Given the description of an element on the screen output the (x, y) to click on. 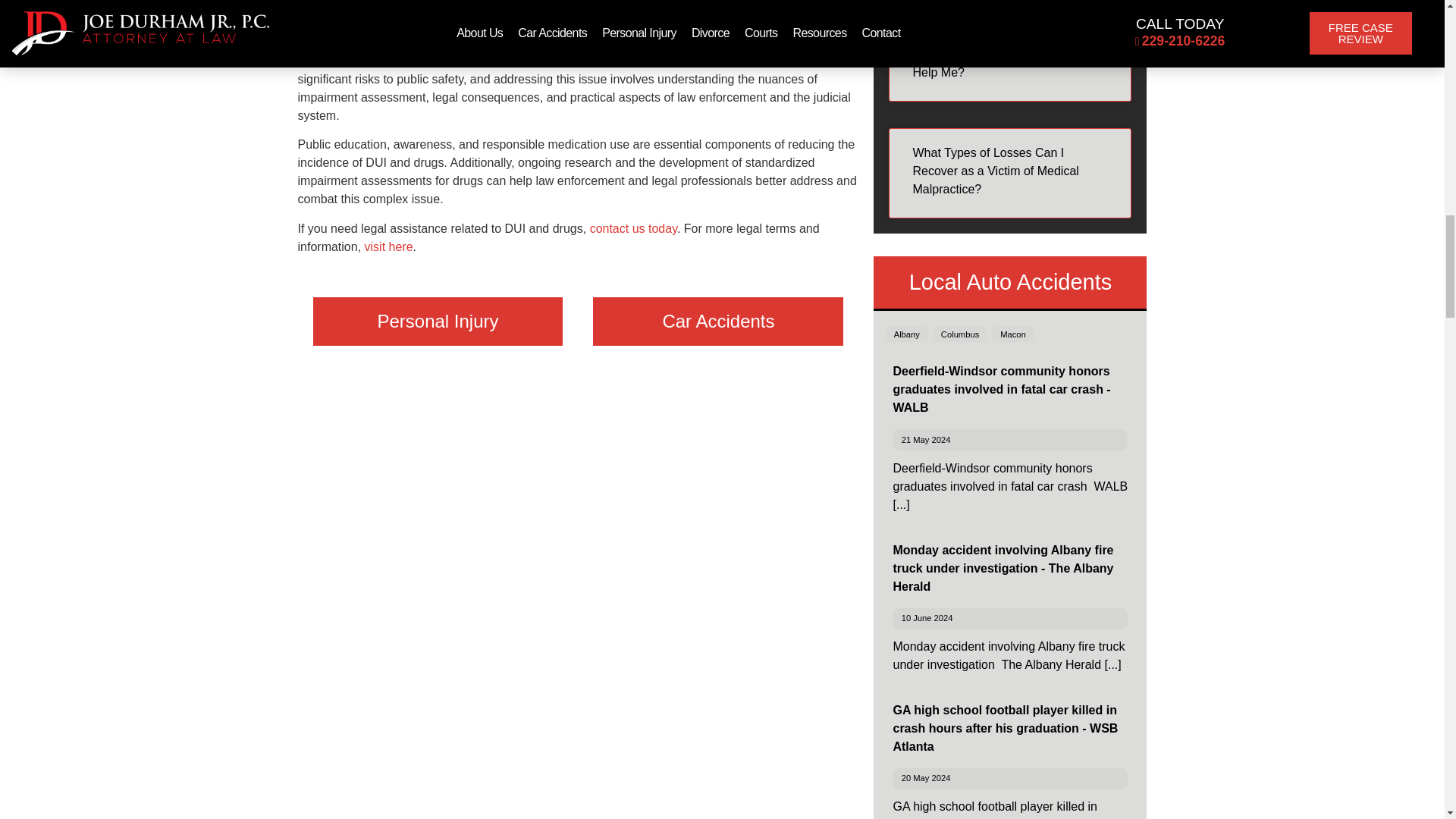
Read more (900, 504)
20 May 2024, 7:00 am UTC (925, 777)
10 June 2024, 7:00 am UTC (927, 617)
21 May 2024, 7:00 am UTC (925, 439)
Read more (1112, 664)
